Given the description of an element on the screen output the (x, y) to click on. 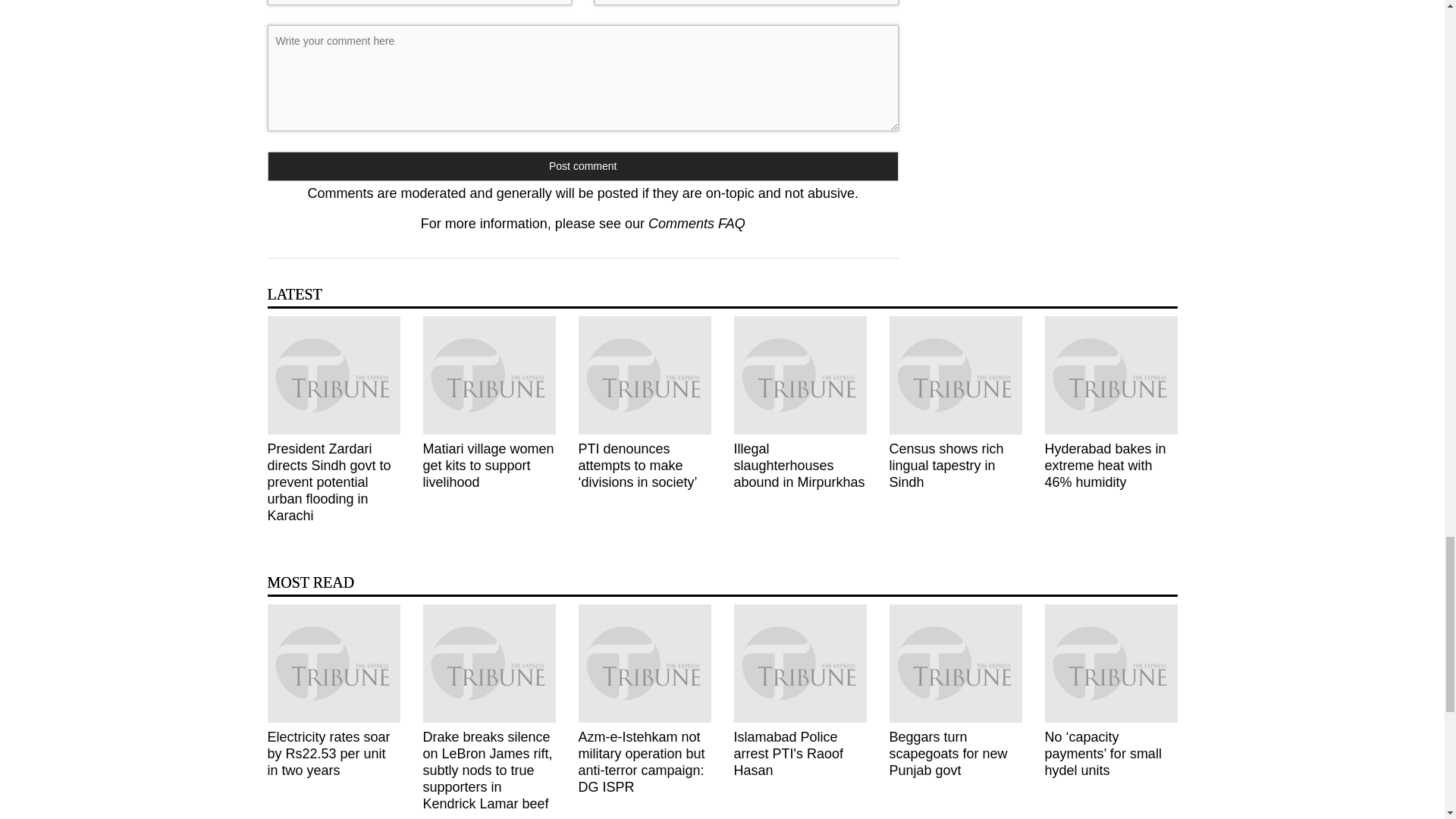
electricity rates soar by rs22 53 per unit in two years (332, 663)
Comments FAQ (696, 223)
no capacity payments for small hydel units (1111, 663)
hyderabad bakes in extreme heat with 46 humidity (1111, 375)
illegal slaughterhouses abound in mirpurkhas (799, 375)
beggars turn scapegoats for new punjab govt (955, 663)
islamabad police arrest pti s raoof hasan (799, 663)
Post comment (582, 165)
matiari village women get kits to support livelihood (489, 375)
Post comment (582, 165)
census shows rich lingual tapestry in sindh (955, 375)
